Given the description of an element on the screen output the (x, y) to click on. 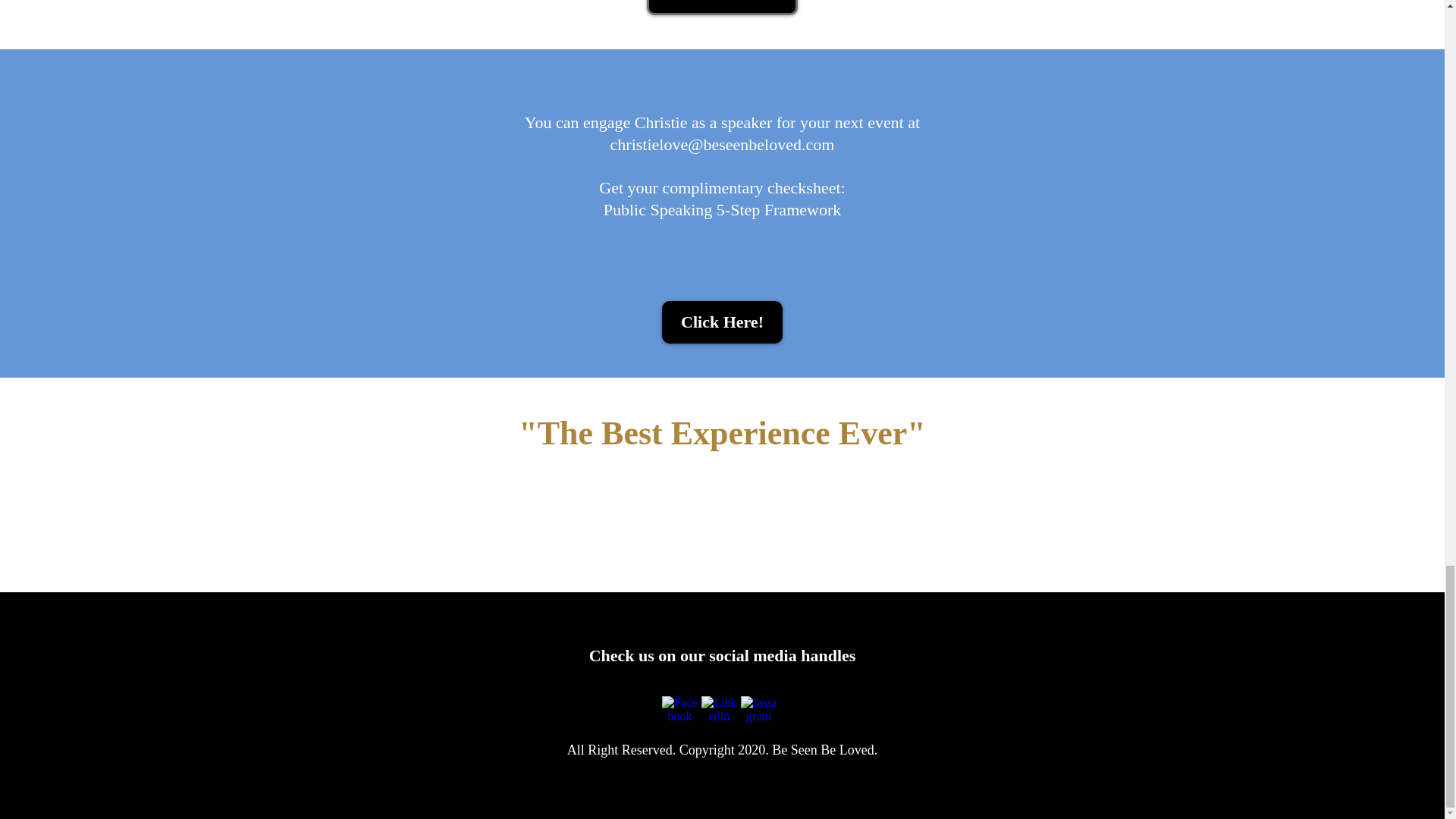
Click Here! (722, 321)
Get Started Now (721, 7)
